Given the description of an element on the screen output the (x, y) to click on. 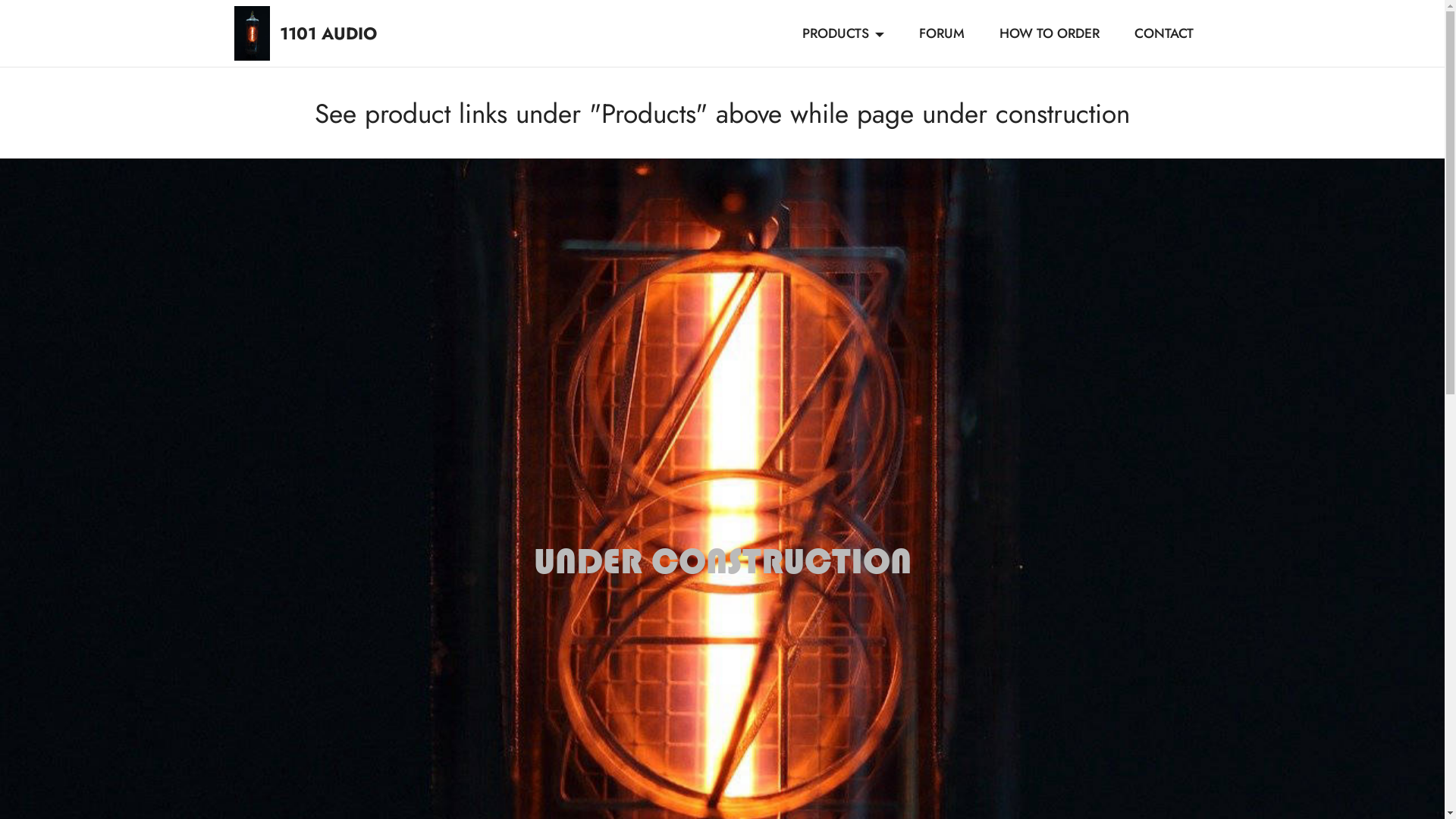
1101 AUDIO Element type: text (352, 33)
CONTACT Element type: text (1163, 33)
HOW TO ORDER Element type: text (1049, 33)
FORUM Element type: text (942, 33)
PRODUCTS Element type: text (843, 33)
